Given the description of an element on the screen output the (x, y) to click on. 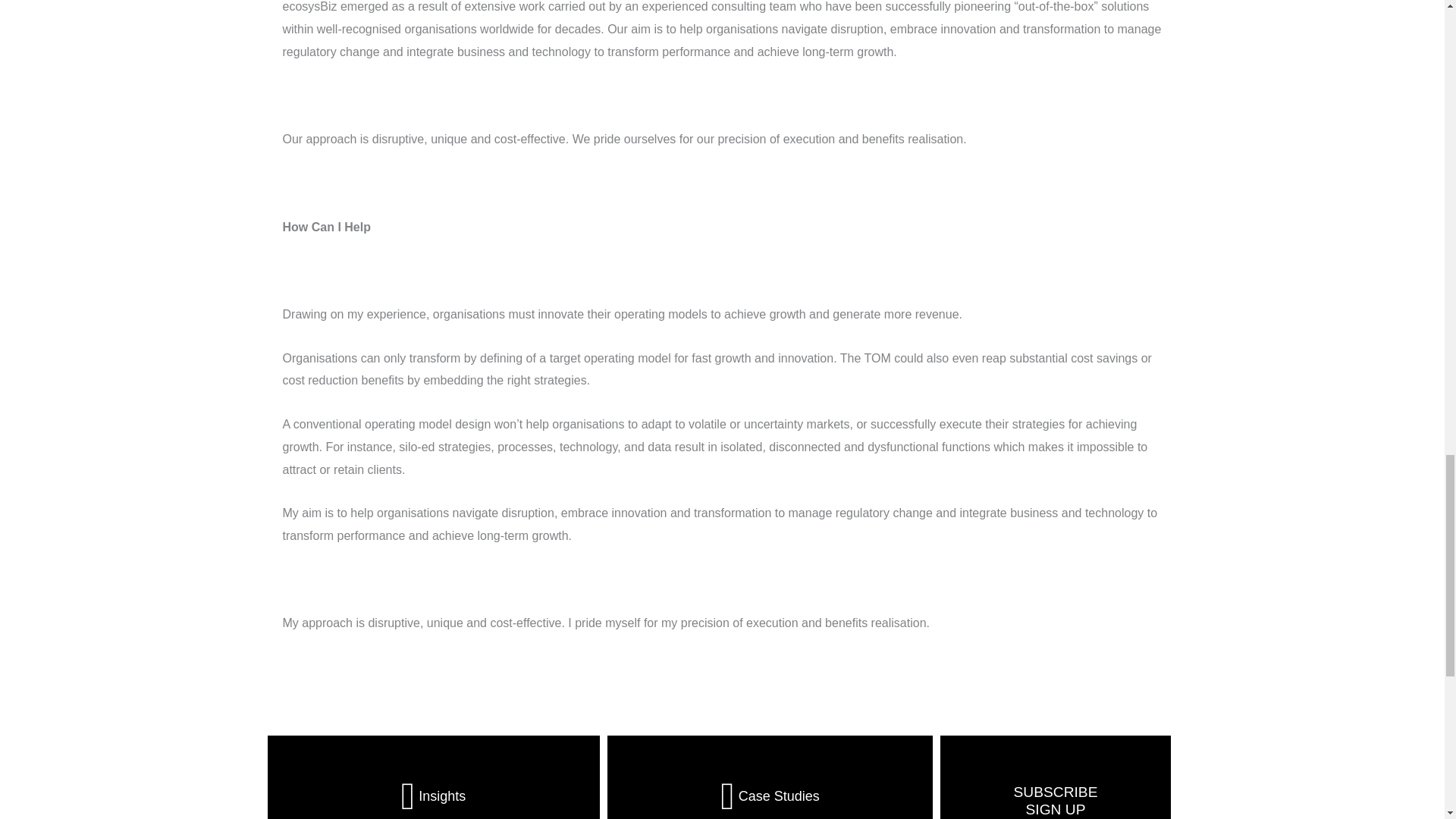
Case Studies (1055, 800)
Insights (769, 792)
